Given the description of an element on the screen output the (x, y) to click on. 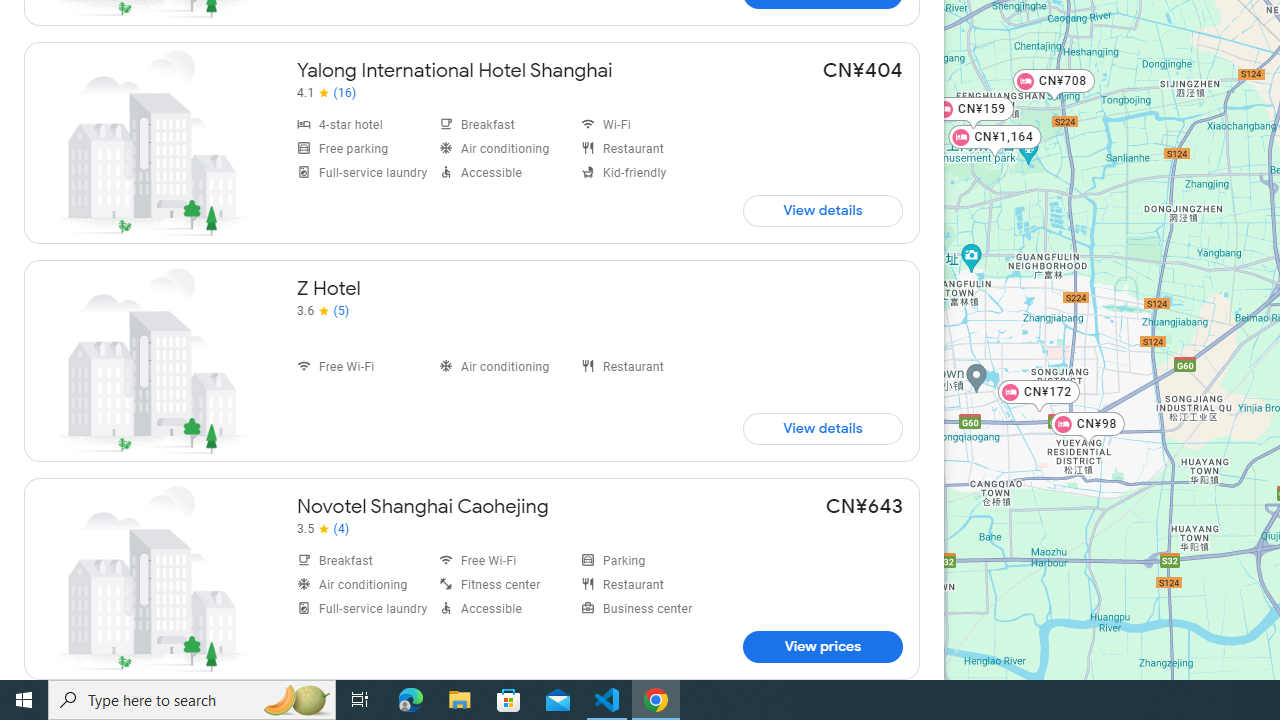
3.6 out of 5 stars from 5 reviews, Z Hotel (322, 310)
Yalong International Hotel Shanghai (472, 143)
